Given the description of an element on the screen output the (x, y) to click on. 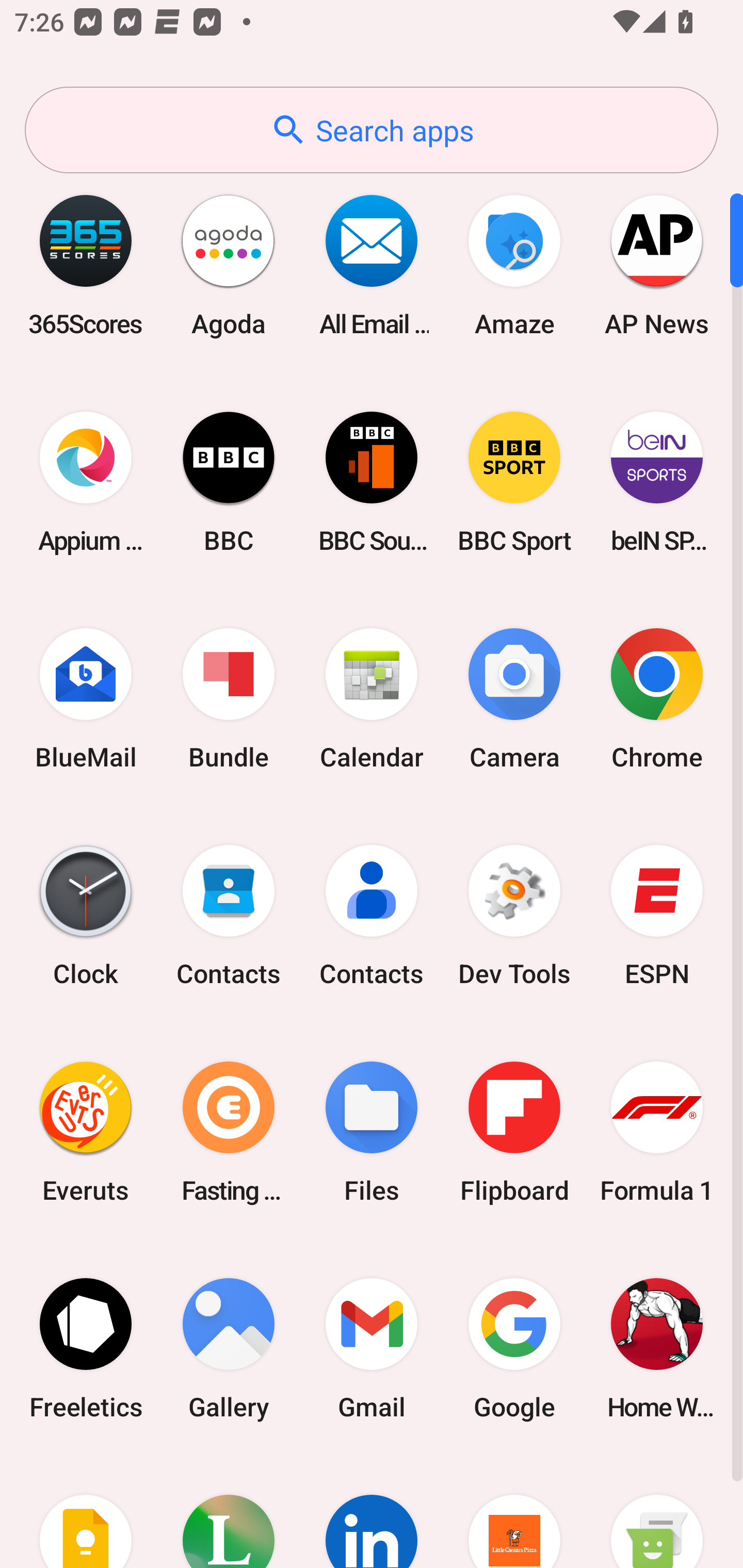
  Search apps (371, 130)
365Scores (85, 264)
Agoda (228, 264)
All Email Connect (371, 264)
Amaze (514, 264)
AP News (656, 264)
Appium Settings (85, 482)
BBC (228, 482)
BBC Sounds (371, 482)
BBC Sport (514, 482)
beIN SPORTS (656, 482)
BlueMail (85, 699)
Bundle (228, 699)
Calendar (371, 699)
Camera (514, 699)
Chrome (656, 699)
Clock (85, 915)
Contacts (228, 915)
Contacts (371, 915)
Dev Tools (514, 915)
ESPN (656, 915)
Everuts (85, 1131)
Fasting Coach (228, 1131)
Files (371, 1131)
Flipboard (514, 1131)
Formula 1 (656, 1131)
Freeletics (85, 1348)
Gallery (228, 1348)
Gmail (371, 1348)
Google (514, 1348)
Home Workout (656, 1348)
Keep Notes (85, 1512)
Lifesum (228, 1512)
LinkedIn (371, 1512)
Little Caesars Pizza (514, 1512)
Messaging (656, 1512)
